Given the description of an element on the screen output the (x, y) to click on. 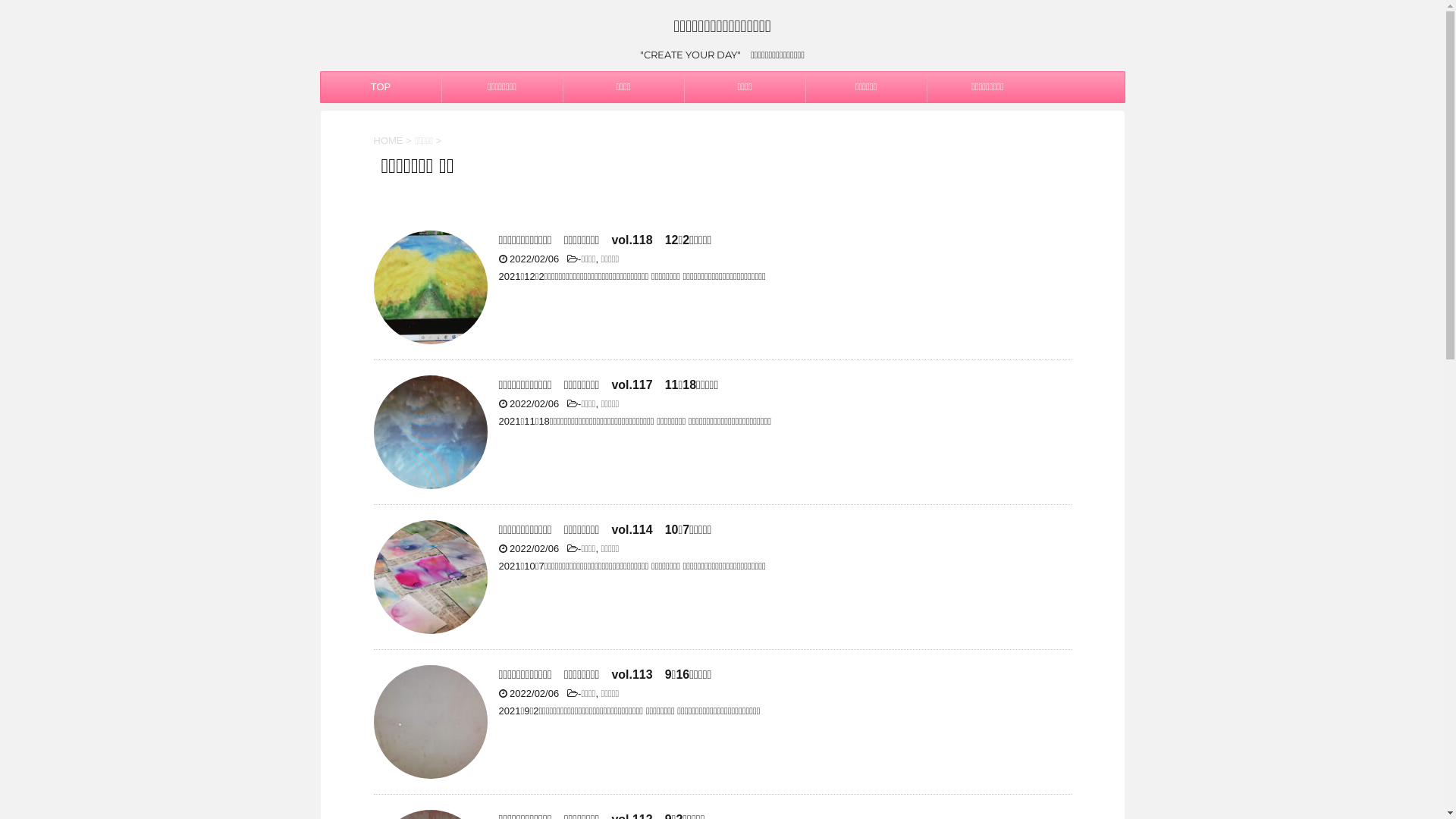
TOP Element type: text (380, 87)
HOME Element type: text (387, 140)
